Given the description of an element on the screen output the (x, y) to click on. 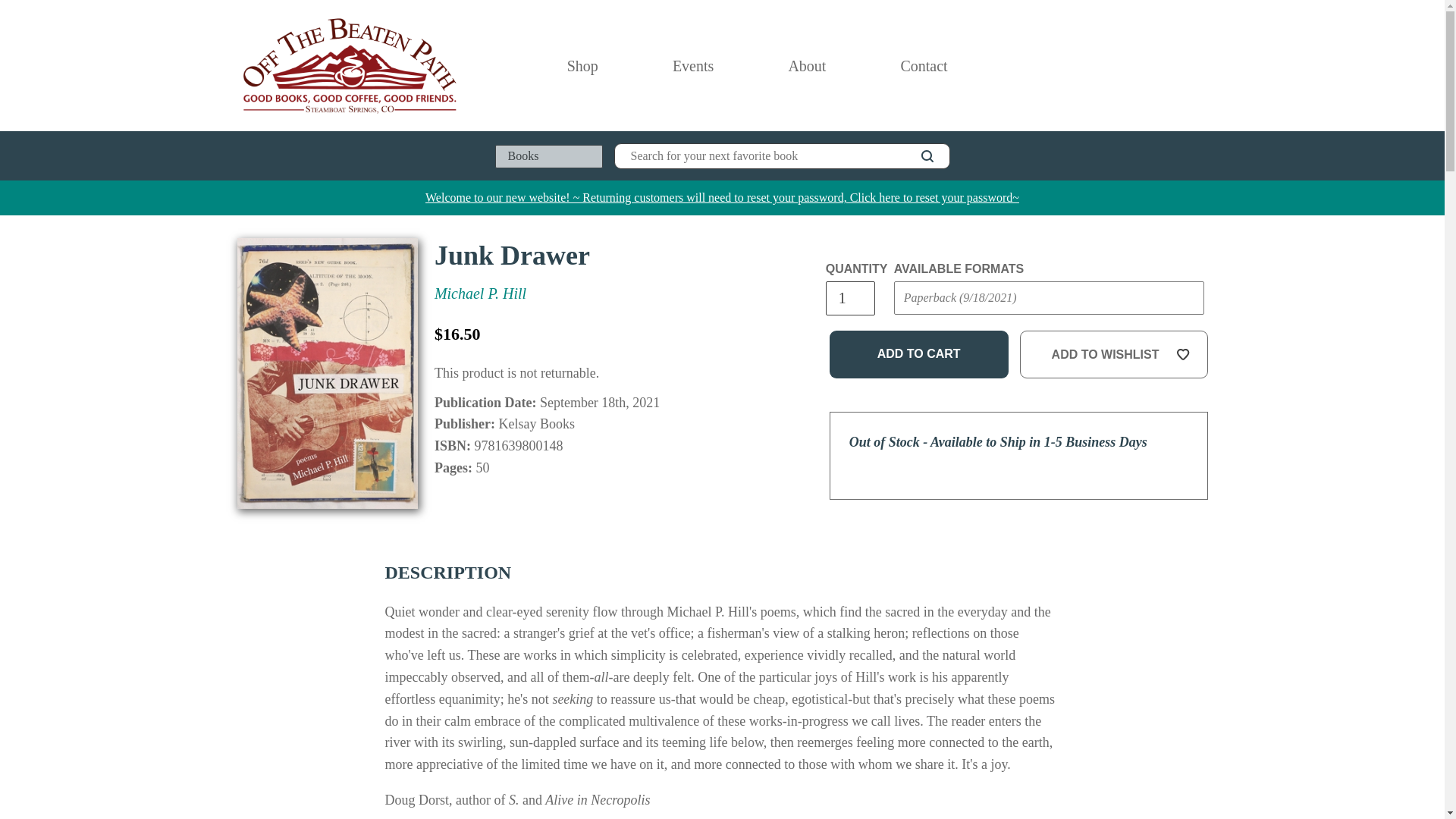
Michael P. Hill (479, 293)
Cart (1201, 65)
Events (692, 65)
1 (850, 298)
Log in (1134, 65)
Contact (922, 65)
Submit (922, 328)
ADD TO WISHLIST (1114, 354)
Wishlists (1168, 65)
